Given the description of an element on the screen output the (x, y) to click on. 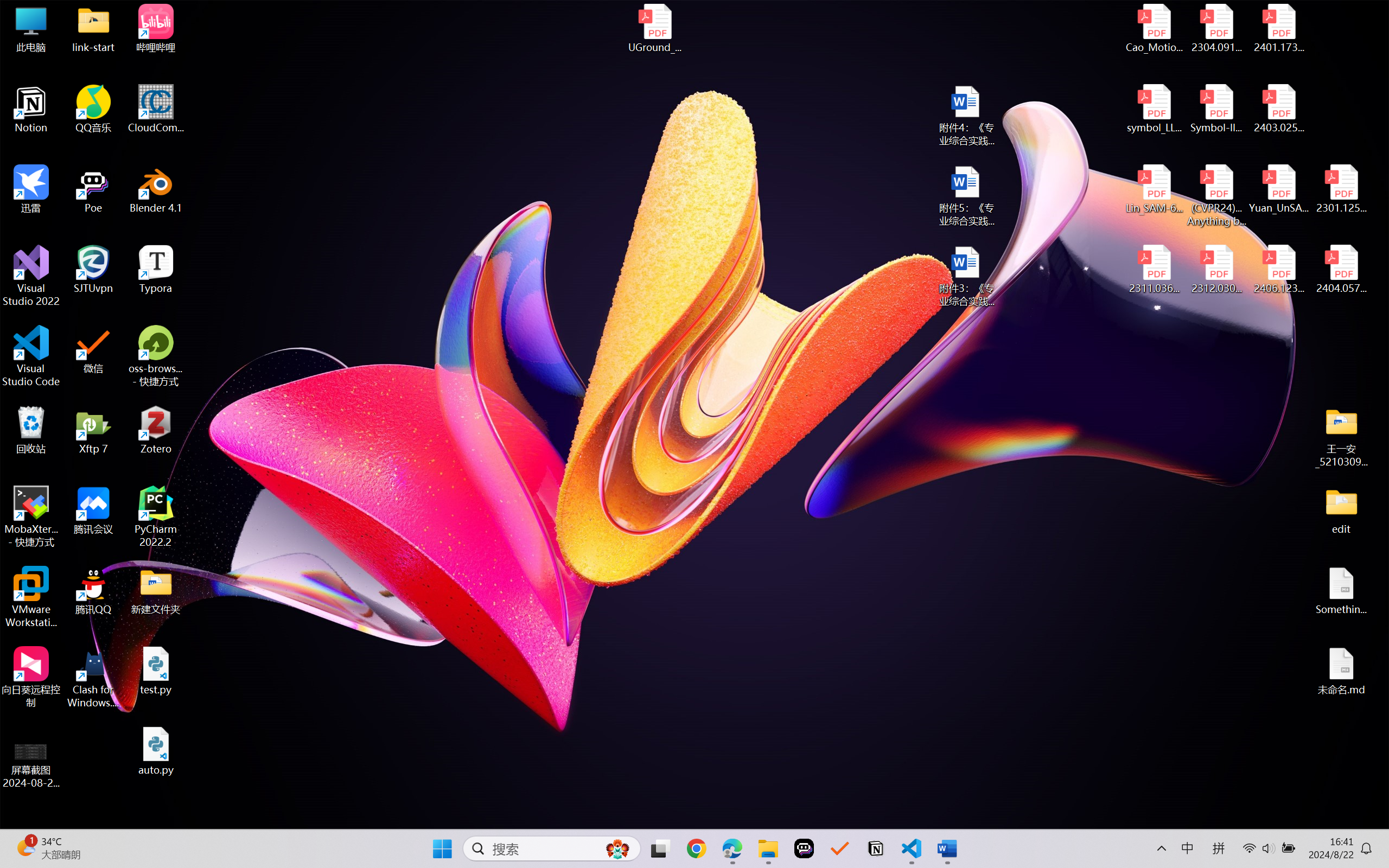
(CVPR24)Matching Anything by Segmenting Anything.pdf (1216, 195)
2404.05719v1.pdf (1340, 269)
Visual Studio 2022 (31, 276)
Xftp 7 (93, 430)
2312.03032v2.pdf (1216, 269)
2304.09121v3.pdf (1216, 28)
CloudCompare (156, 109)
UGround_paper.pdf (654, 28)
